Given the description of an element on the screen output the (x, y) to click on. 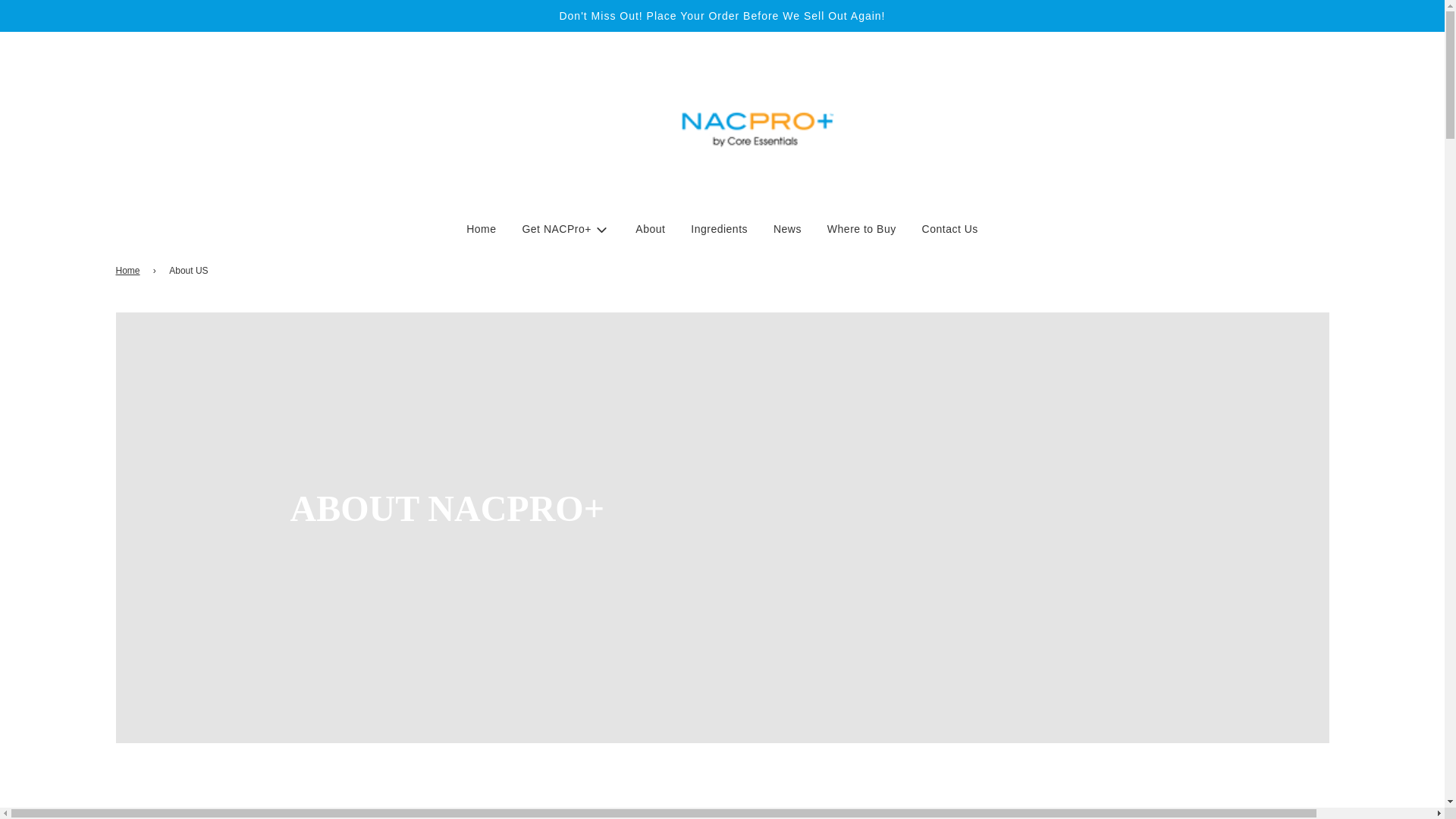
Ingredients (718, 228)
Contact Us (950, 228)
Don't Miss Out! Place Your Order Before We Sell Out Again! (722, 15)
yt-video (722, 792)
About (650, 228)
Home (129, 270)
Home (480, 228)
Where to Buy (861, 228)
Back to the frontpage (129, 270)
News (786, 228)
